Given the description of an element on the screen output the (x, y) to click on. 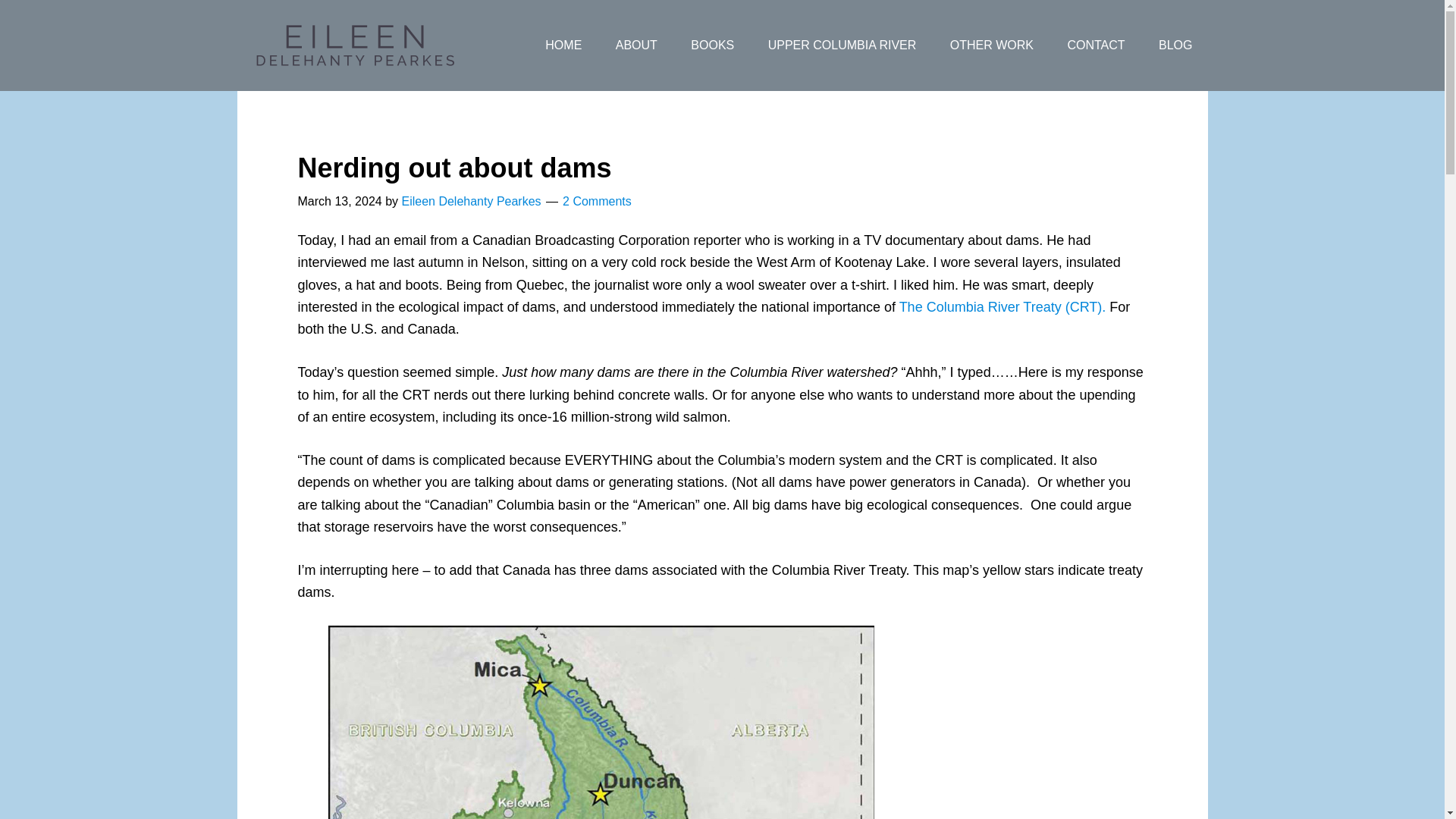
2 Comments (596, 201)
UPPER COLUMBIA RIVER (841, 45)
OTHER WORK (991, 45)
Eileen Delehanty Pearkes (357, 45)
CONTACT (1095, 45)
Eileen Delehanty Pearkes (470, 201)
